Given the description of an element on the screen output the (x, y) to click on. 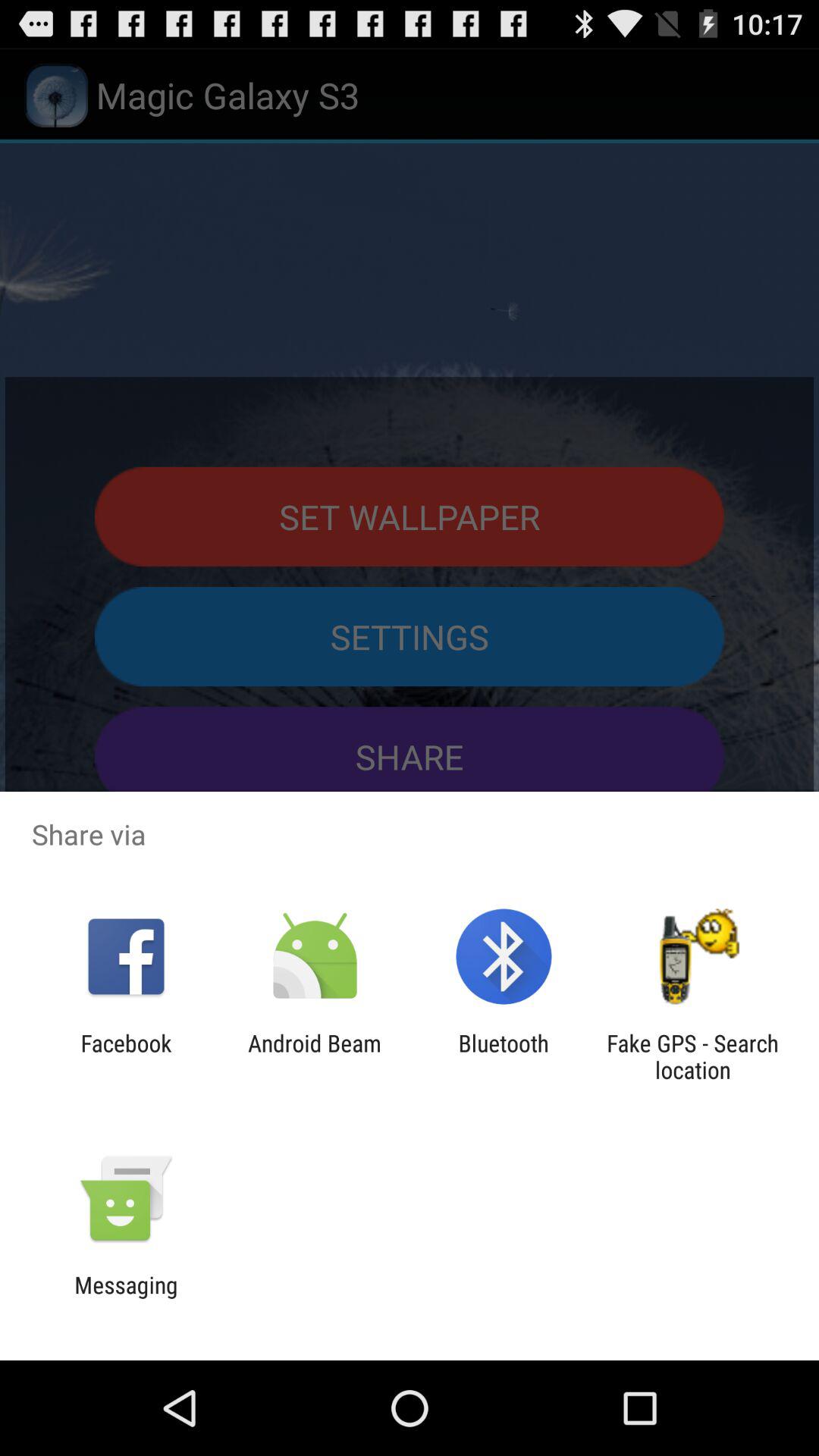
select app next to the android beam (125, 1056)
